Given the description of an element on the screen output the (x, y) to click on. 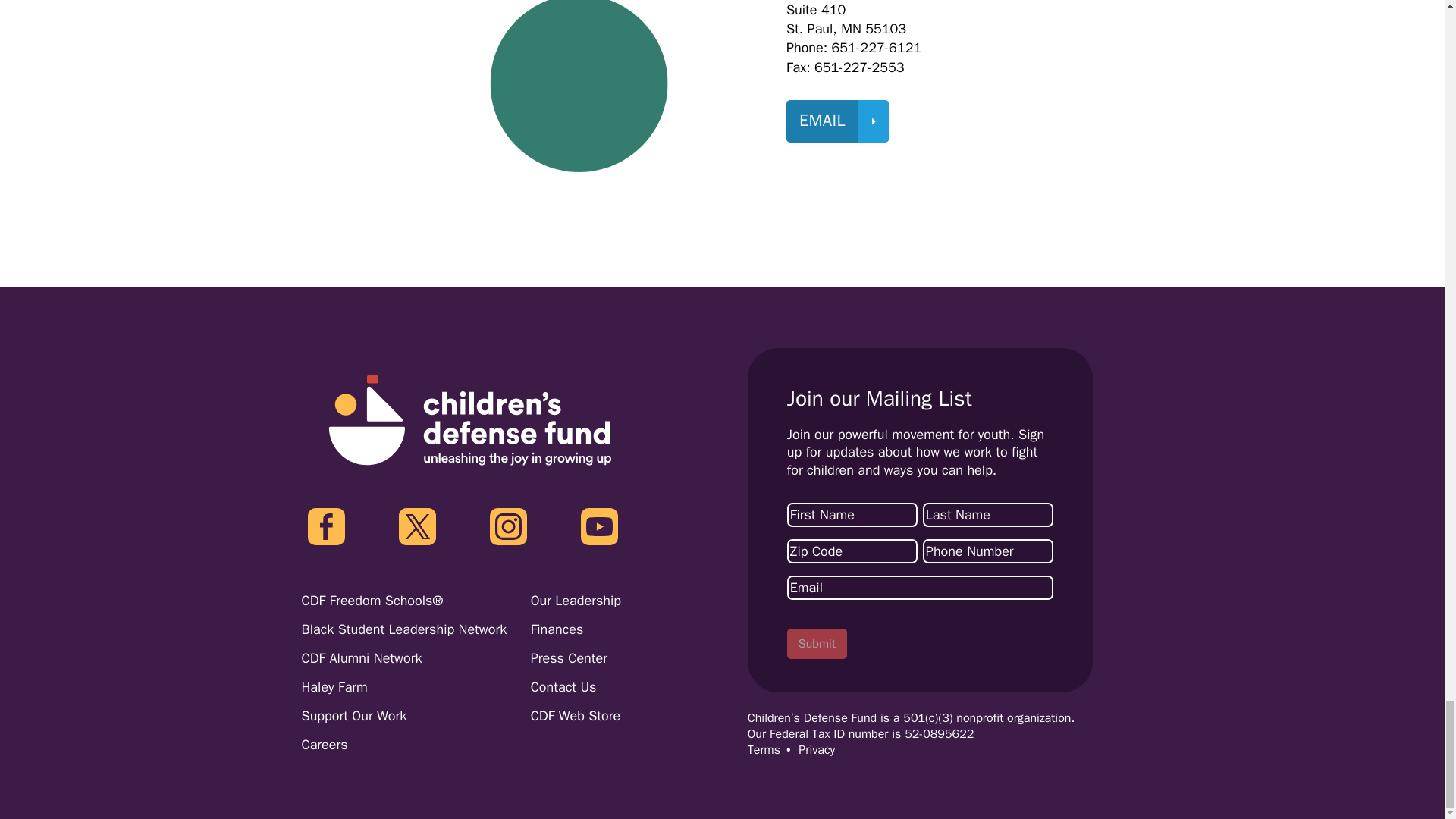
Submit (817, 643)
